Given the description of an element on the screen output the (x, y) to click on. 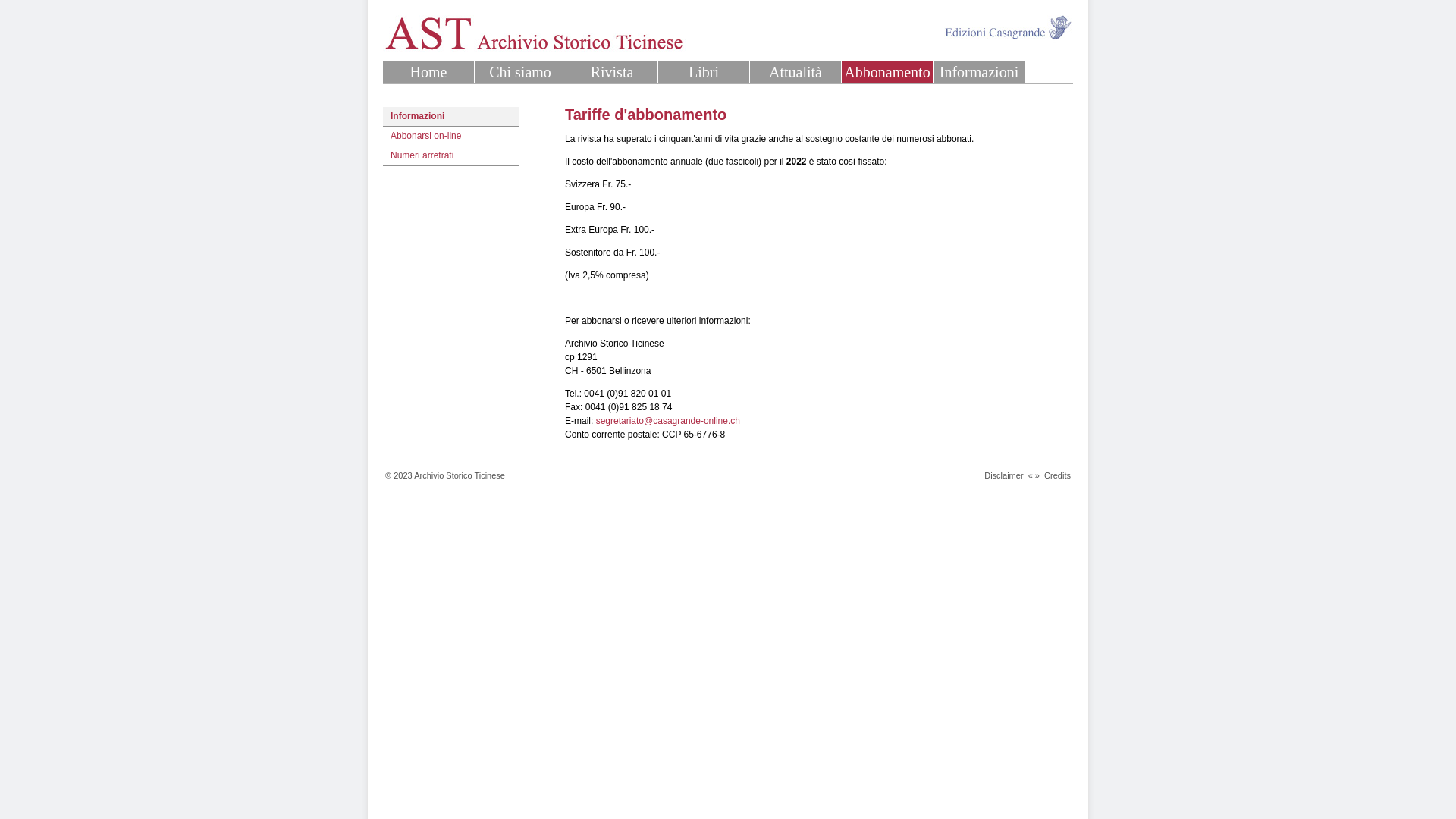
Libri Element type: text (703, 71)
Chi siamo Element type: text (519, 71)
segretariato@casagrande-online.ch Element type: text (668, 420)
Abbonarsi on-line Element type: text (450, 135)
Home Element type: text (427, 71)
Rivista Element type: text (611, 71)
Informazioni Element type: text (978, 71)
Credits Element type: text (1057, 475)
Numeri arretrati Element type: text (450, 155)
Informazioni Element type: text (450, 115)
Disclaimer Element type: text (1003, 475)
Abbonamento Element type: text (886, 71)
